Given the description of an element on the screen output the (x, y) to click on. 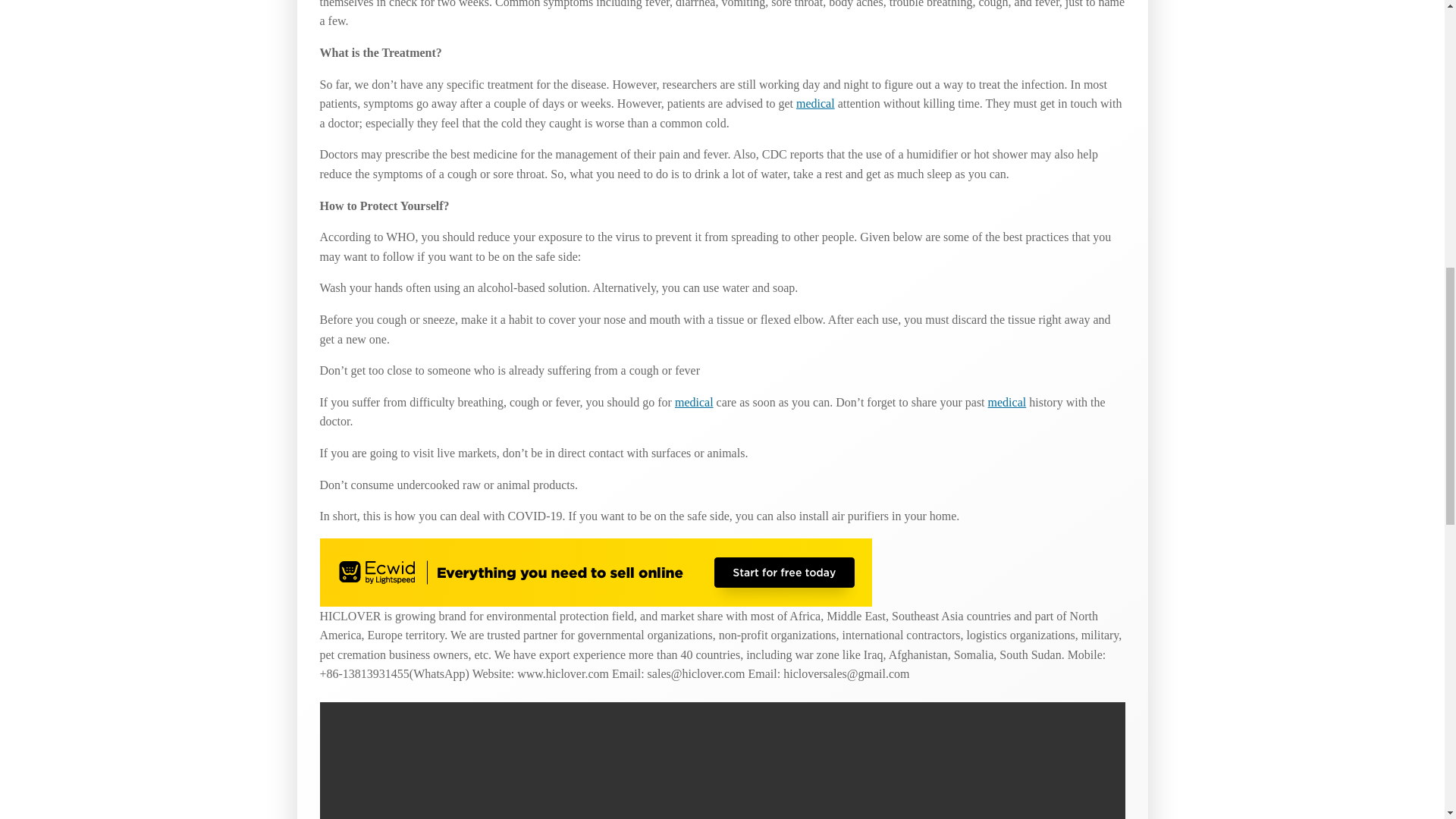
medical (815, 103)
incinerator (1007, 401)
incinerator (815, 103)
medical (694, 401)
medical (1007, 401)
incinerator (694, 401)
